Given the description of an element on the screen output the (x, y) to click on. 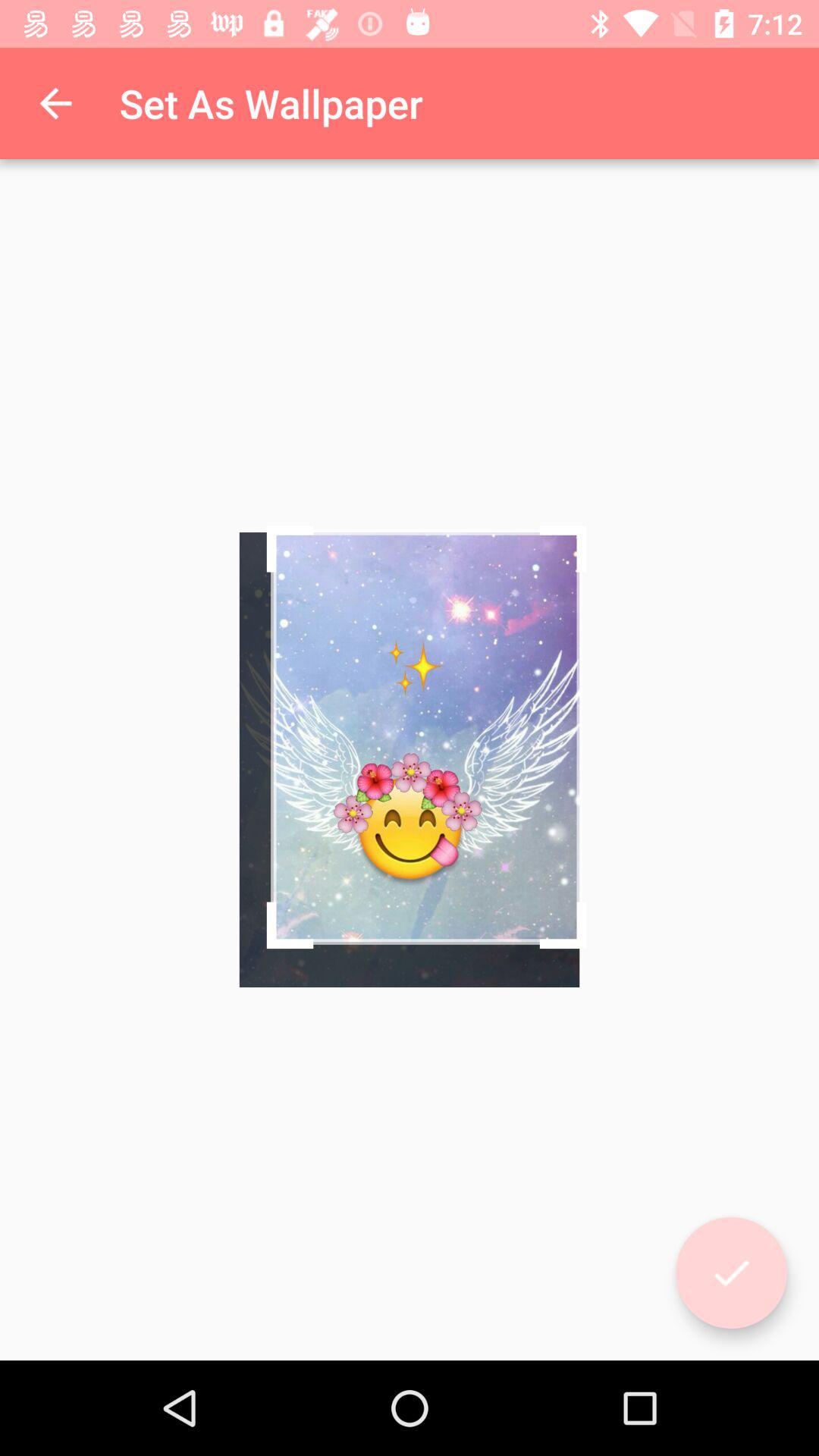
complete/set (731, 1272)
